Given the description of an element on the screen output the (x, y) to click on. 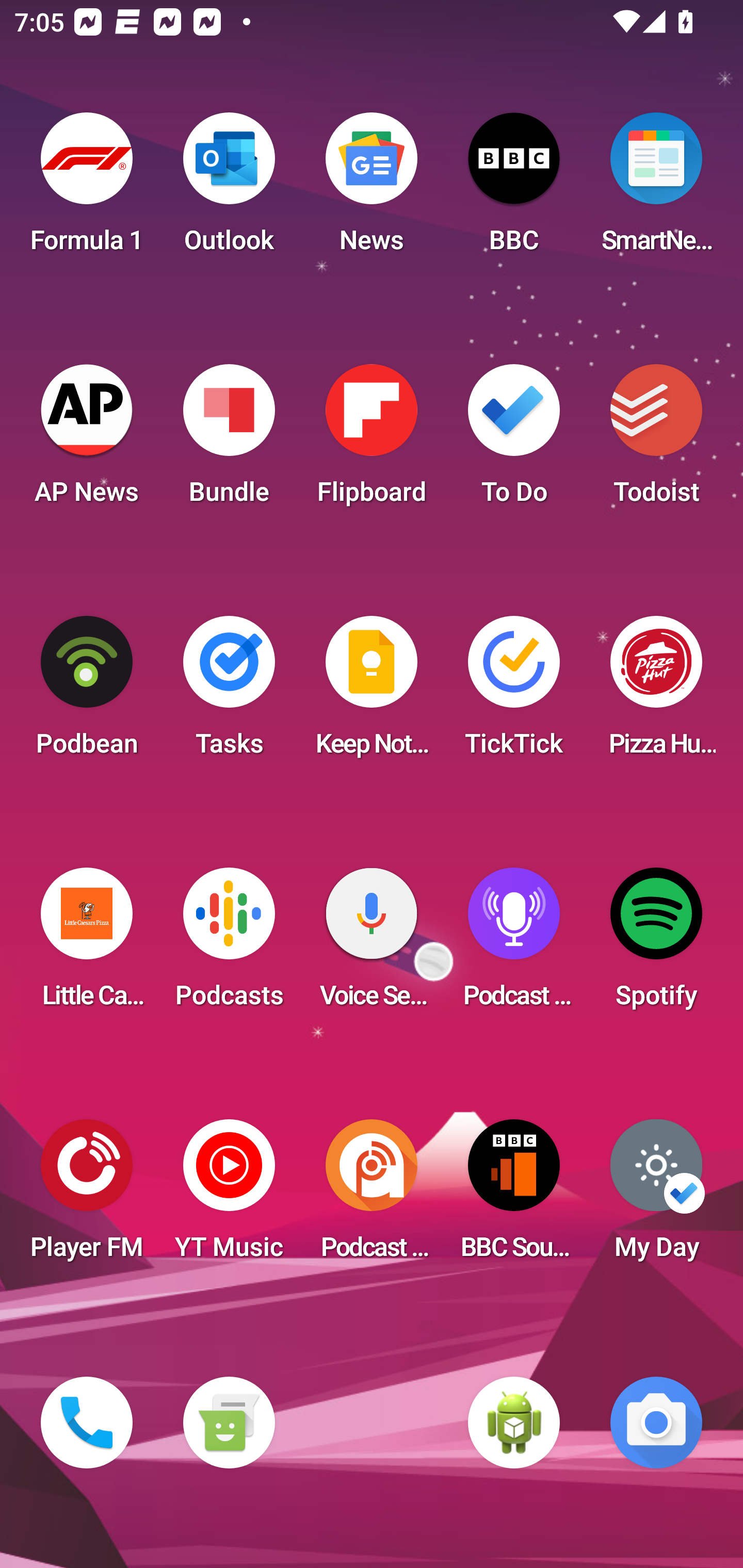
Formula 1 (86, 188)
Outlook (228, 188)
News (371, 188)
BBC (513, 188)
SmartNews (656, 188)
AP News (86, 440)
Bundle (228, 440)
Flipboard (371, 440)
To Do (513, 440)
Todoist (656, 440)
Podbean (86, 692)
Tasks (228, 692)
Keep Notes (371, 692)
TickTick (513, 692)
Pizza Hut HK & Macau (656, 692)
Little Caesars Pizza (86, 943)
Podcasts (228, 943)
Voice Search (371, 943)
Podcast Player (513, 943)
Spotify (656, 943)
Player FM (86, 1195)
YT Music (228, 1195)
Podcast Addict (371, 1195)
BBC Sounds (513, 1195)
My Day (656, 1195)
Phone (86, 1422)
Messaging (228, 1422)
WebView Browser Tester (513, 1422)
Camera (656, 1422)
